Given the description of an element on the screen output the (x, y) to click on. 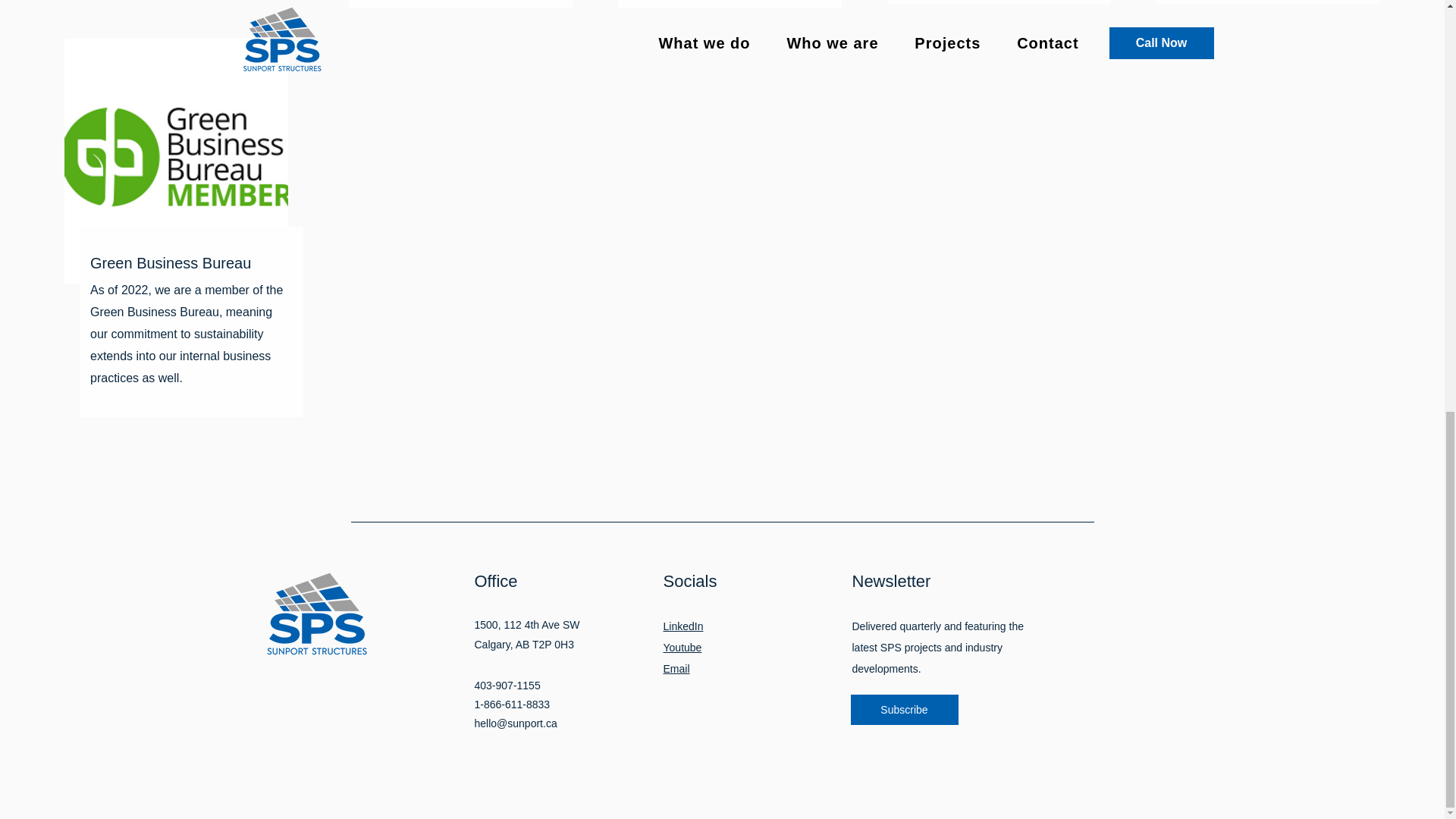
Email (675, 668)
Youtube (681, 647)
LinkedIn (682, 625)
Subscribe (904, 709)
